Given the description of an element on the screen output the (x, y) to click on. 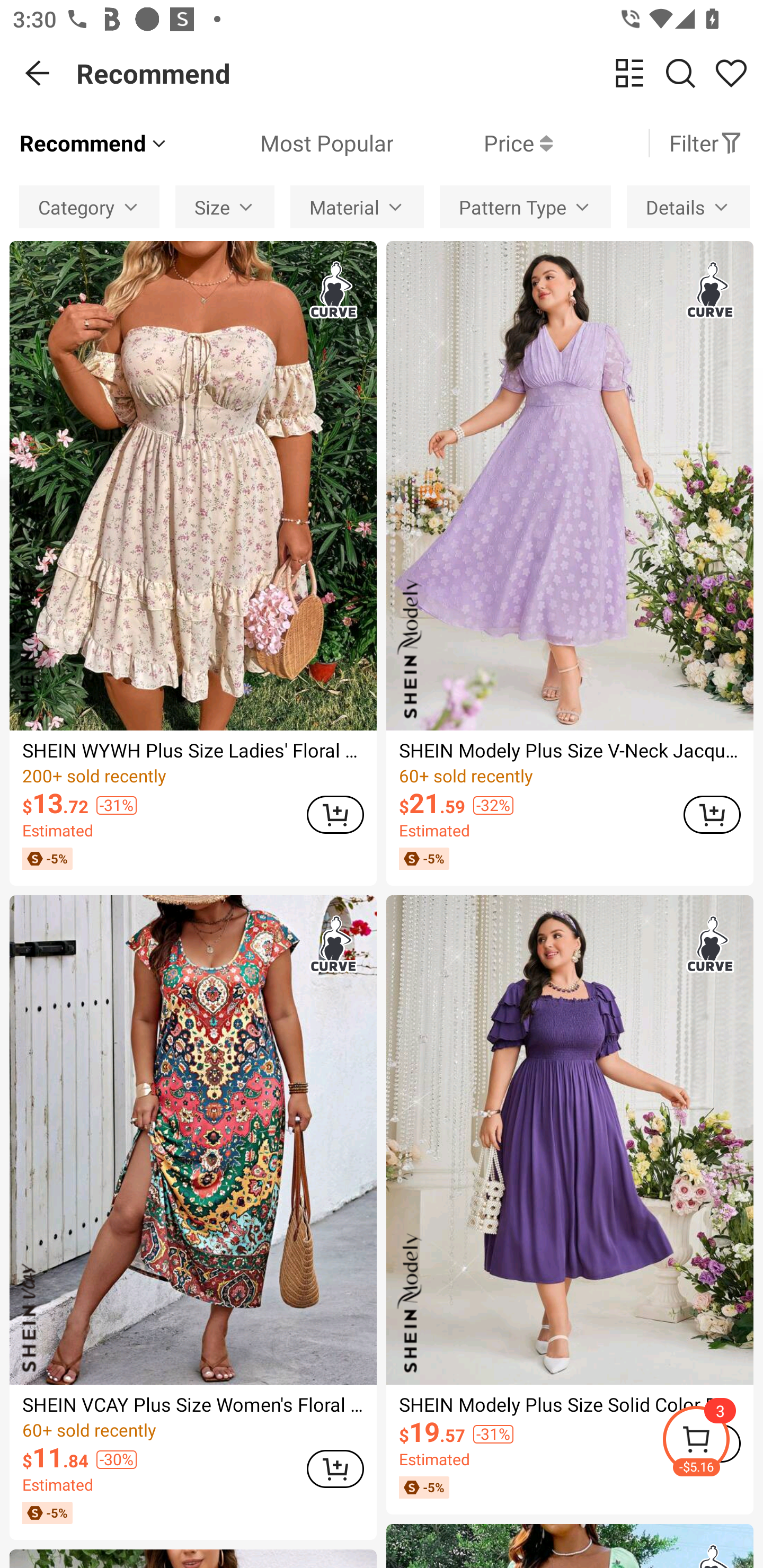
Recommend change view Search Share (419, 72)
change view (629, 72)
Search (679, 72)
Share (730, 72)
Recommend (94, 143)
Most Popular (280, 143)
Price (472, 143)
Filter (705, 143)
Category (89, 206)
Size (224, 206)
Material (357, 206)
Pattern Type (525, 206)
Details (688, 206)
ADD TO CART (334, 814)
ADD TO CART (711, 814)
-$5.16 (712, 1441)
ADD TO CART (334, 1469)
